Given the description of an element on the screen output the (x, y) to click on. 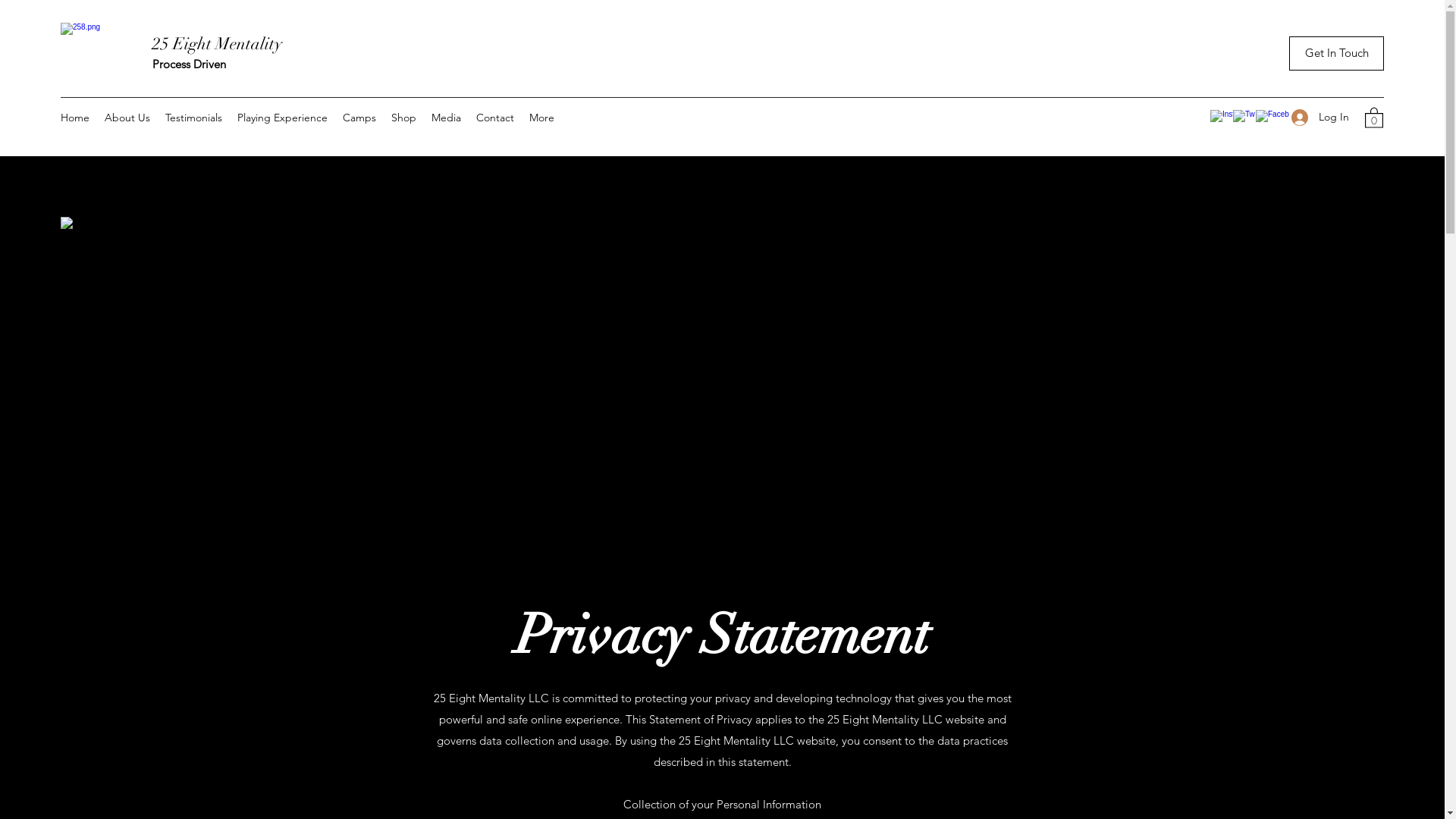
Get In Touch Element type: text (1336, 53)
Playing Experience Element type: text (282, 117)
Camps Element type: text (359, 117)
Contact Element type: text (494, 117)
Media Element type: text (445, 117)
0 Element type: text (1374, 117)
Shop Element type: text (403, 117)
Home Element type: text (75, 117)
About Us Element type: text (127, 117)
Log In Element type: text (1319, 117)
Testimonials Element type: text (193, 117)
